Given the description of an element on the screen output the (x, y) to click on. 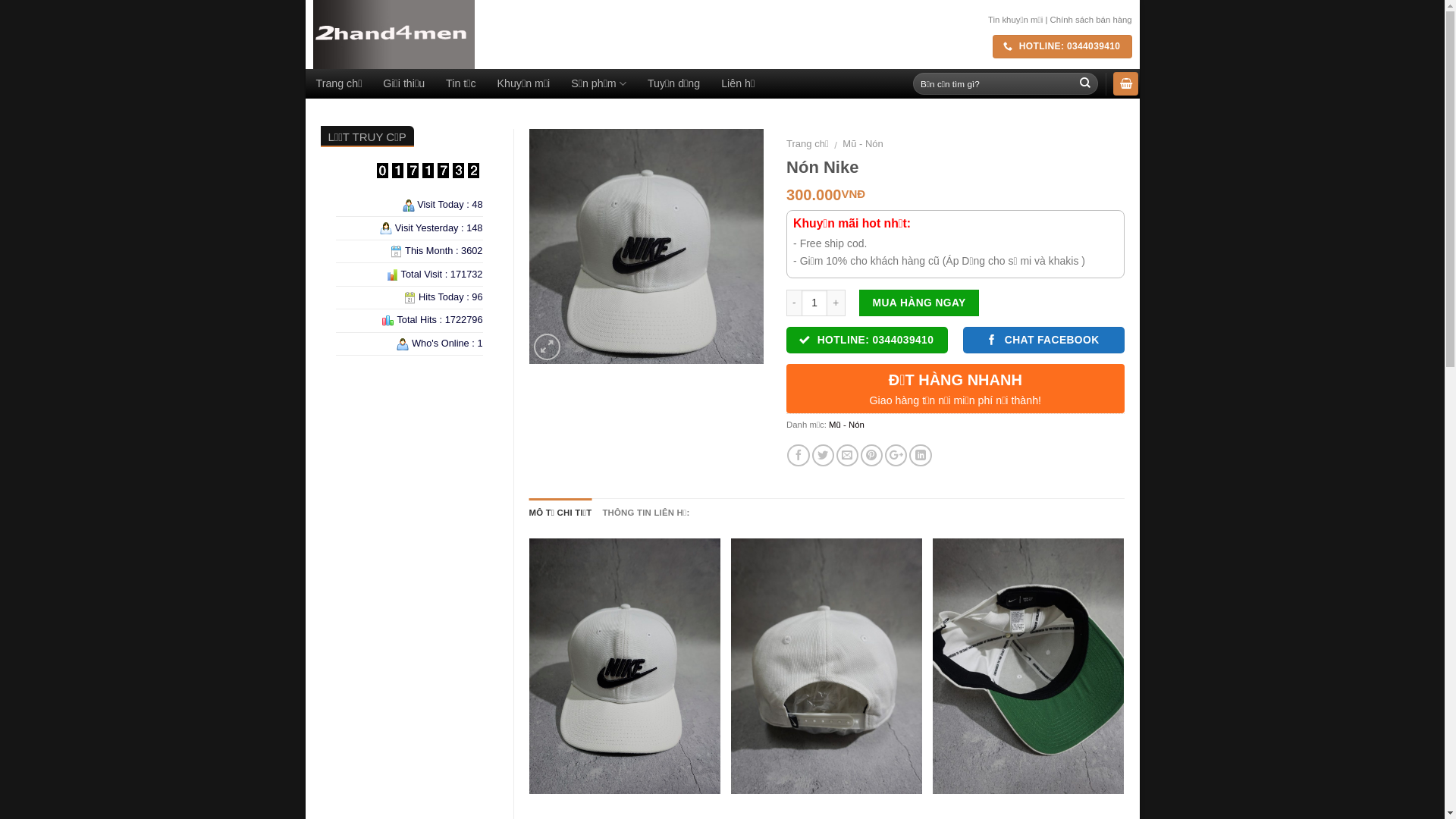
2hand4men - 2hand4men Element type: hover (577, 34)
DSC4485 Element type: hover (646, 246)
CHAT FACEBOOK Element type: text (1043, 339)
SL Element type: hover (814, 302)
Skip to content Element type: text (304, 0)
HOTLINE: 0344039410 Element type: text (866, 339)
HOTLINE: 0344039410 Element type: text (1061, 46)
